Given the description of an element on the screen output the (x, y) to click on. 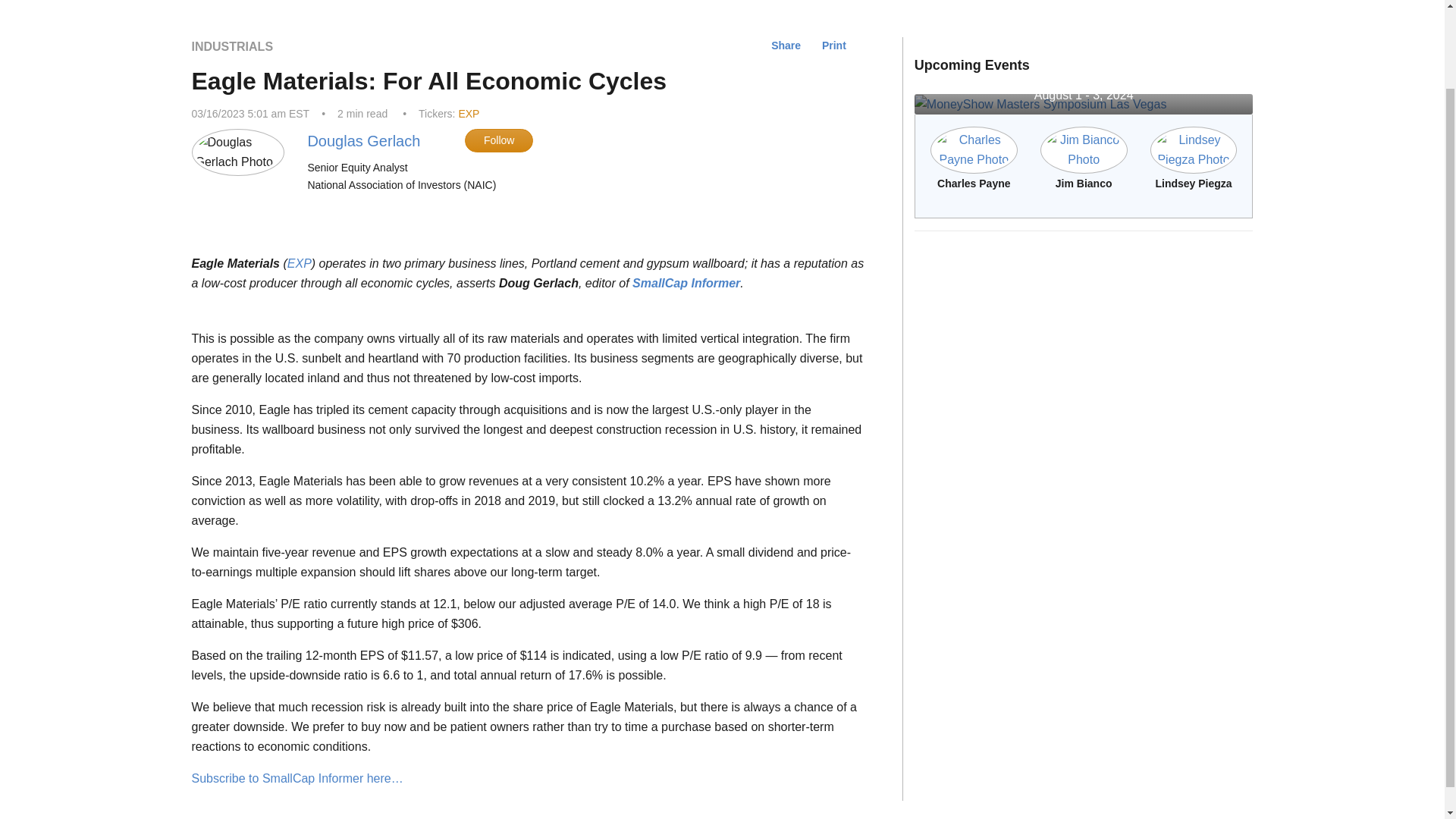
Share (785, 45)
EXP (468, 113)
You must login to follow our experts. (498, 140)
Print (833, 45)
Douglas Gerlach (363, 141)
